Given the description of an element on the screen output the (x, y) to click on. 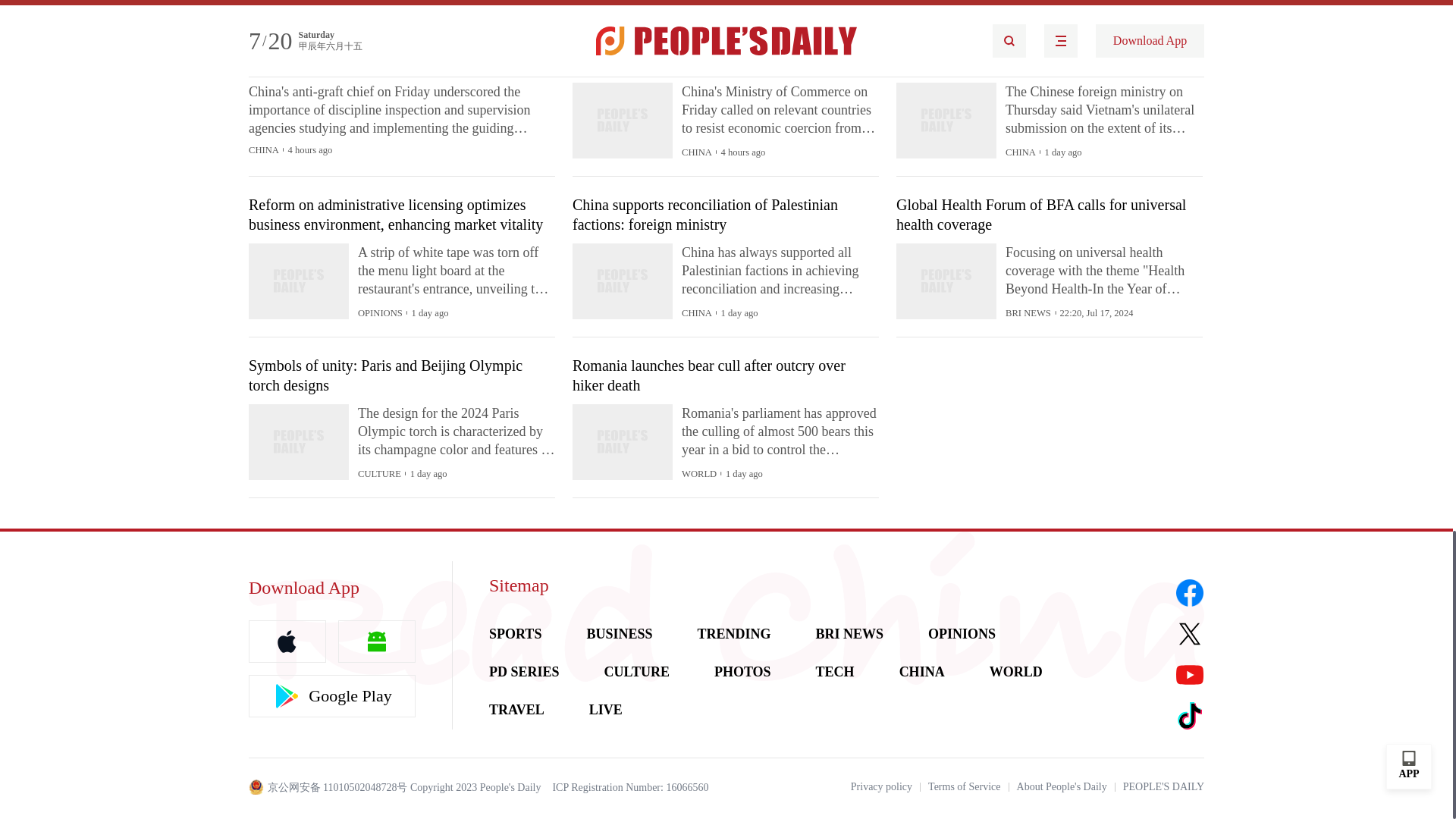
PEOPLE'S DAILY (1163, 787)
About People's Daily (1061, 787)
ICP Registration Number: 16066560 (629, 787)
Privacy policy (881, 787)
Terms of Service (964, 787)
Google Play (331, 695)
